Given the description of an element on the screen output the (x, y) to click on. 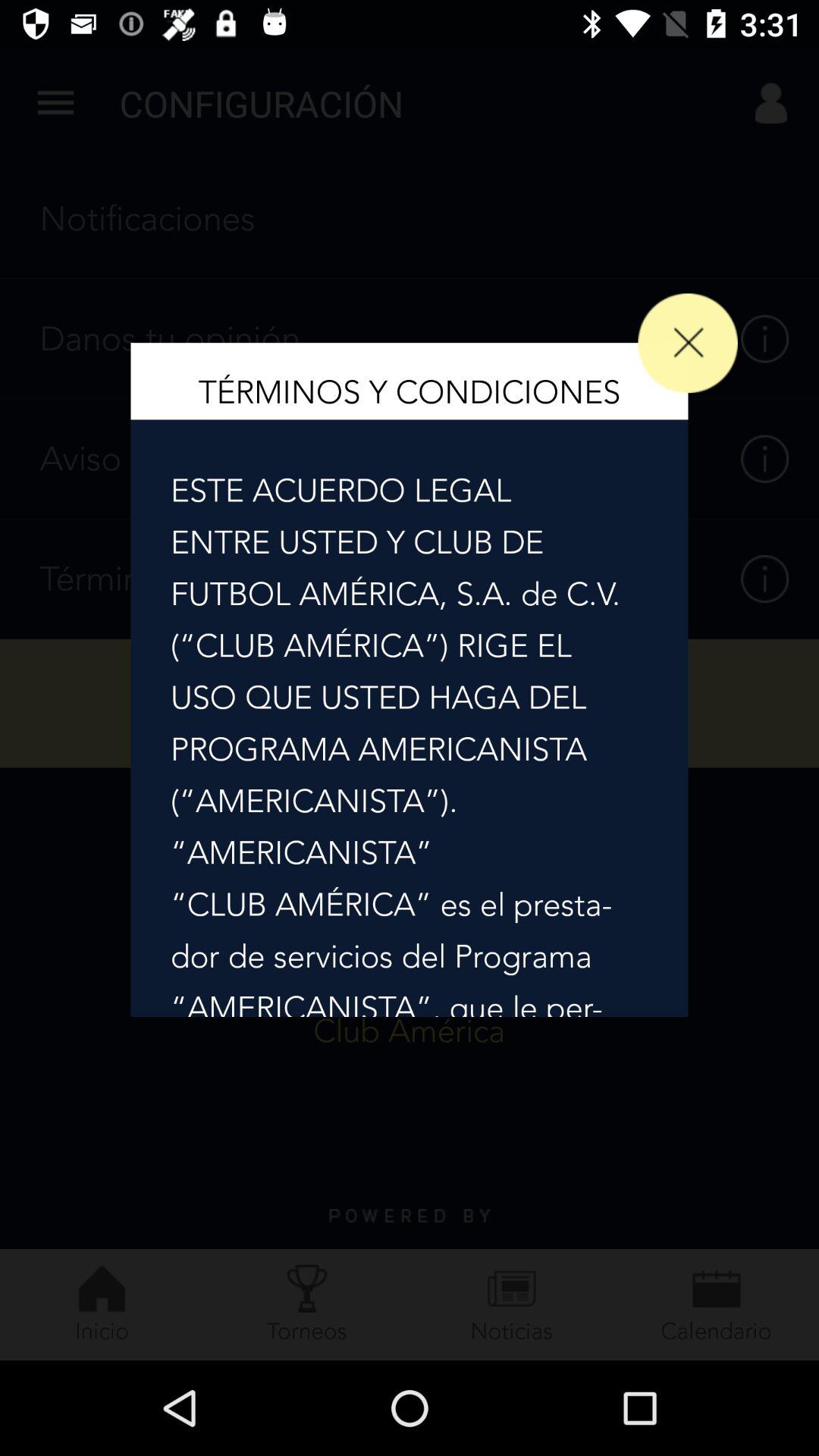
select item at the top right corner (687, 343)
